Given the description of an element on the screen output the (x, y) to click on. 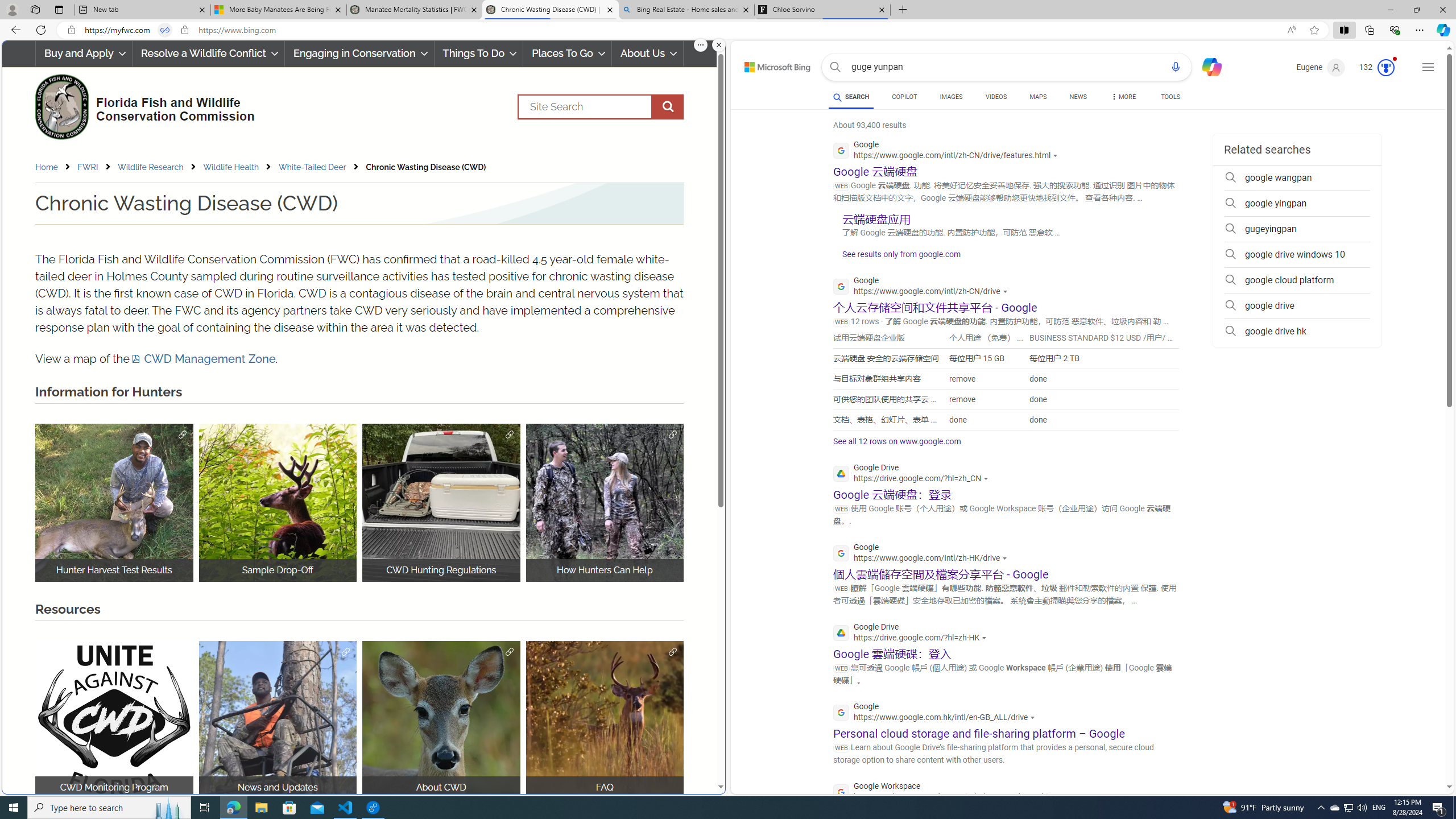
Home (46, 166)
Wildlife Research (150, 166)
VIDEOS (995, 98)
Buy and Apply (84, 53)
MAPS (1038, 96)
Google Drive (912, 634)
Wildlife Health (230, 166)
Photo showing a cooler in the back of a pick up truck (440, 502)
White-Tailed Deer (312, 166)
COPILOT (903, 96)
Chronic Wasting Disease (CWD) (425, 167)
